Given the description of an element on the screen output the (x, y) to click on. 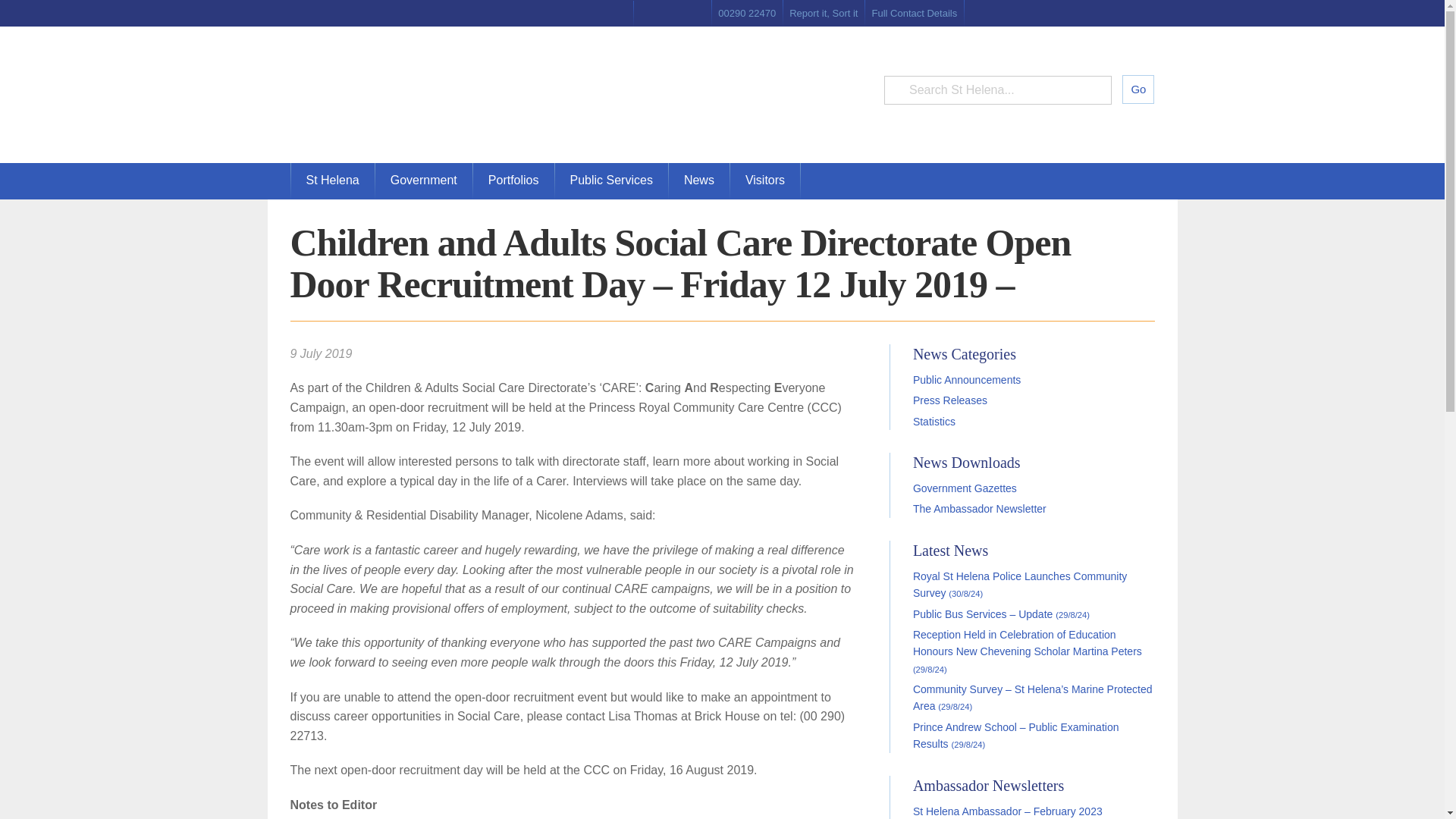
Go (1138, 89)
Go (1138, 89)
